Given the description of an element on the screen output the (x, y) to click on. 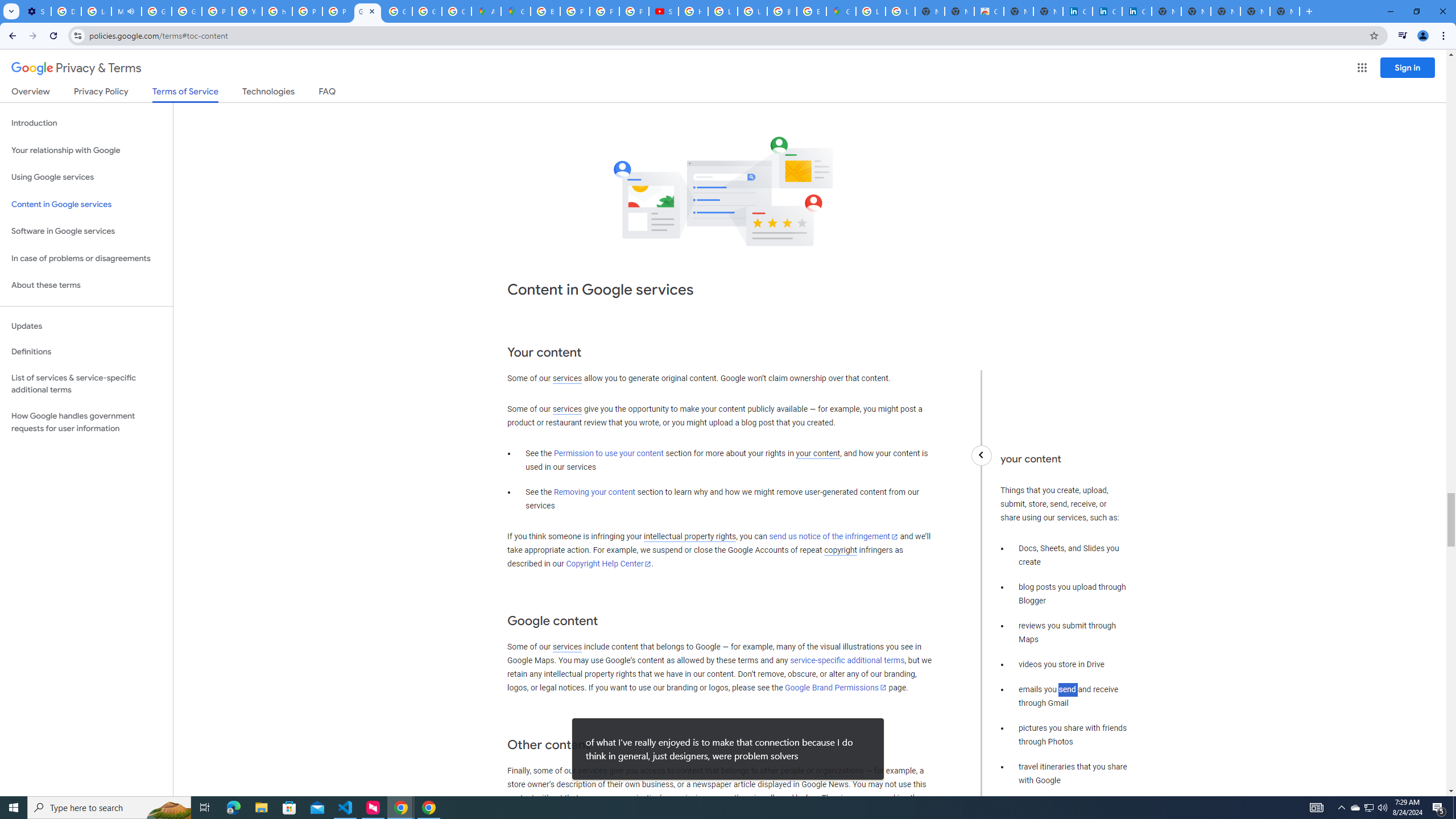
Blogger Policies and Guidelines - Transparency Center (544, 11)
Privacy Help Center - Policies Help (216, 11)
Explore new street-level details - Google Maps Help (811, 11)
Permission to use your content (608, 453)
